Given the description of an element on the screen output the (x, y) to click on. 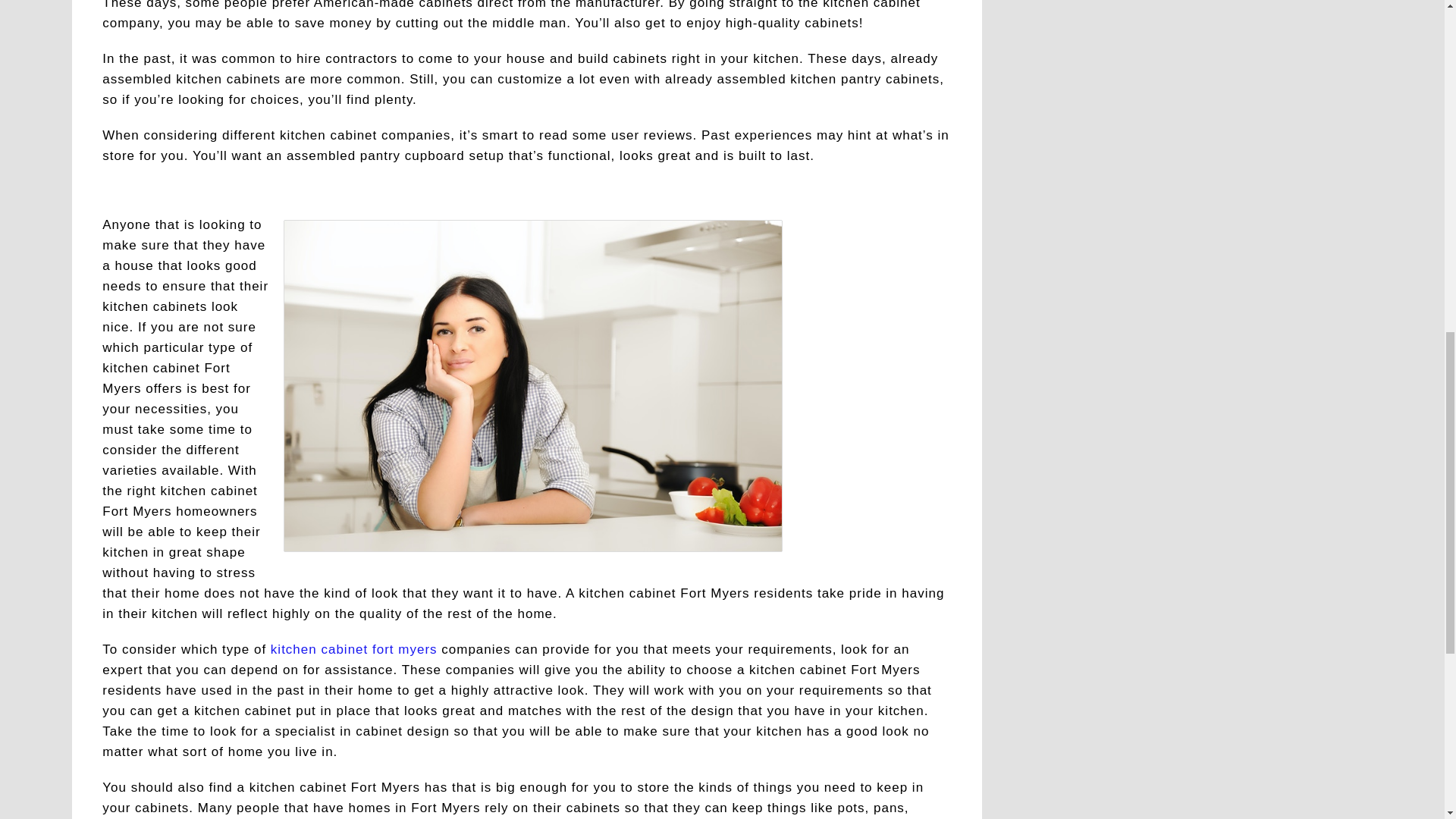
kitchen cabinet fort myers (354, 649)
Kitchen cabinet fort myers, Kitchen cabinet fort myers (354, 649)
